Given the description of an element on the screen output the (x, y) to click on. 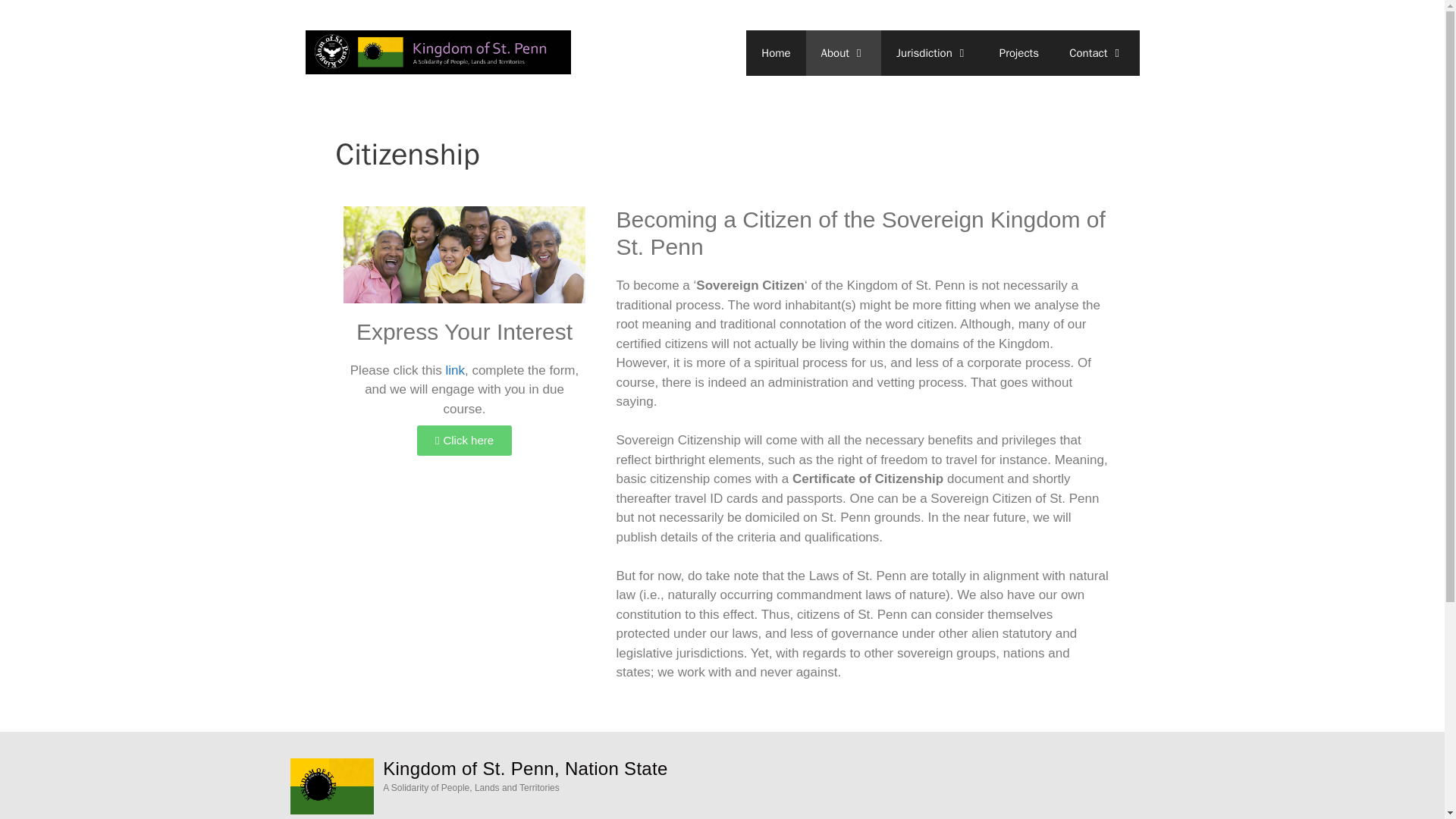
link (454, 370)
Kingdom of St. Penn (437, 51)
Click here (464, 440)
Contact (1096, 53)
Kingdom of St. Penn (437, 52)
About (843, 53)
Projects (1019, 53)
Jurisdiction (932, 53)
Home (775, 53)
